Given the description of an element on the screen output the (x, y) to click on. 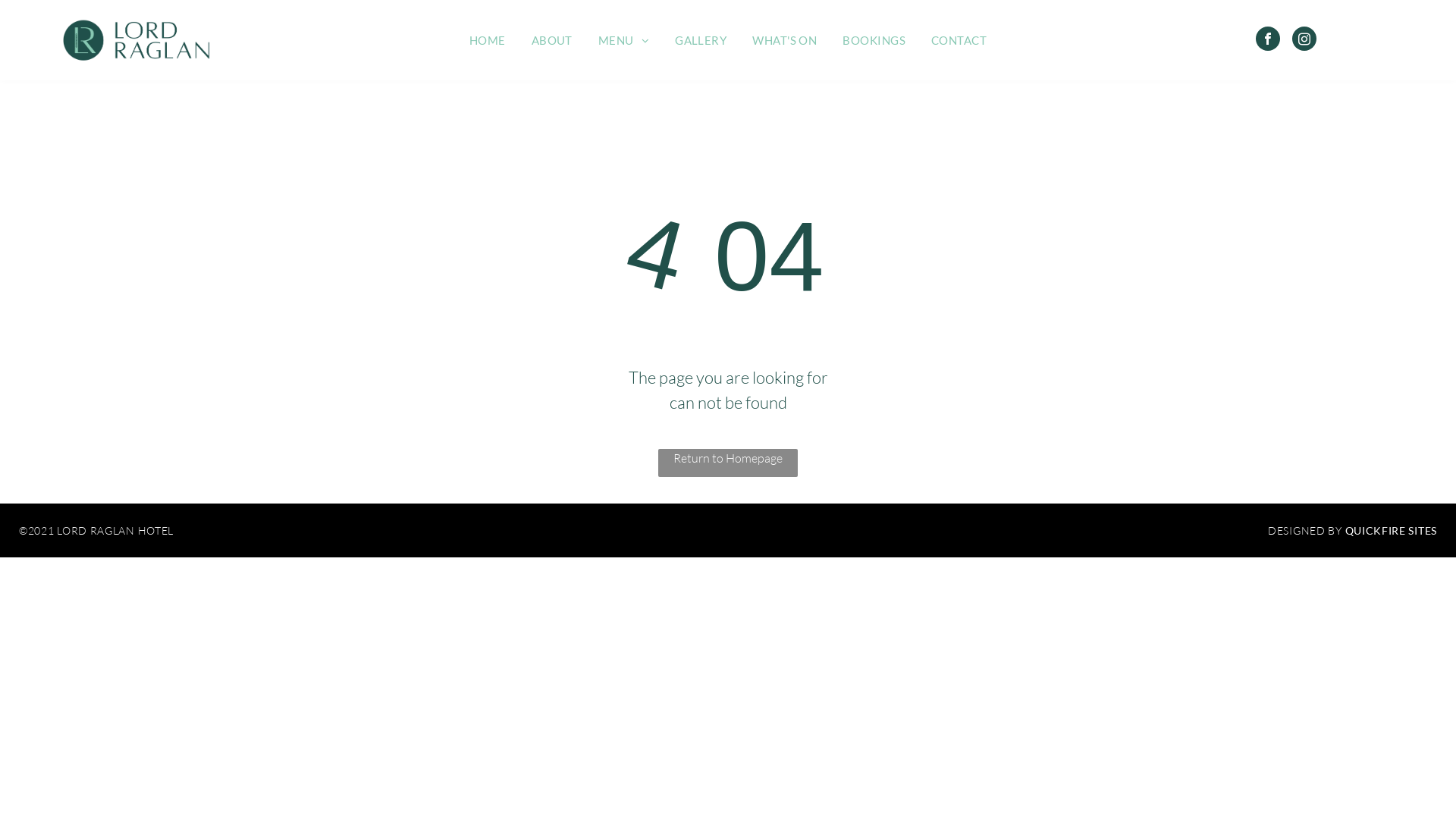
QUICKFIRE SITES Element type: text (1391, 530)
Return to Homepage Element type: text (727, 462)
HOME Element type: text (487, 40)
ABOUT Element type: text (551, 40)
MENU Element type: text (623, 40)
CONTACT Element type: text (958, 40)
GALLERY Element type: text (700, 40)
WHAT'S ON Element type: text (784, 40)
BOOKINGS Element type: text (873, 40)
